Given the description of an element on the screen output the (x, y) to click on. 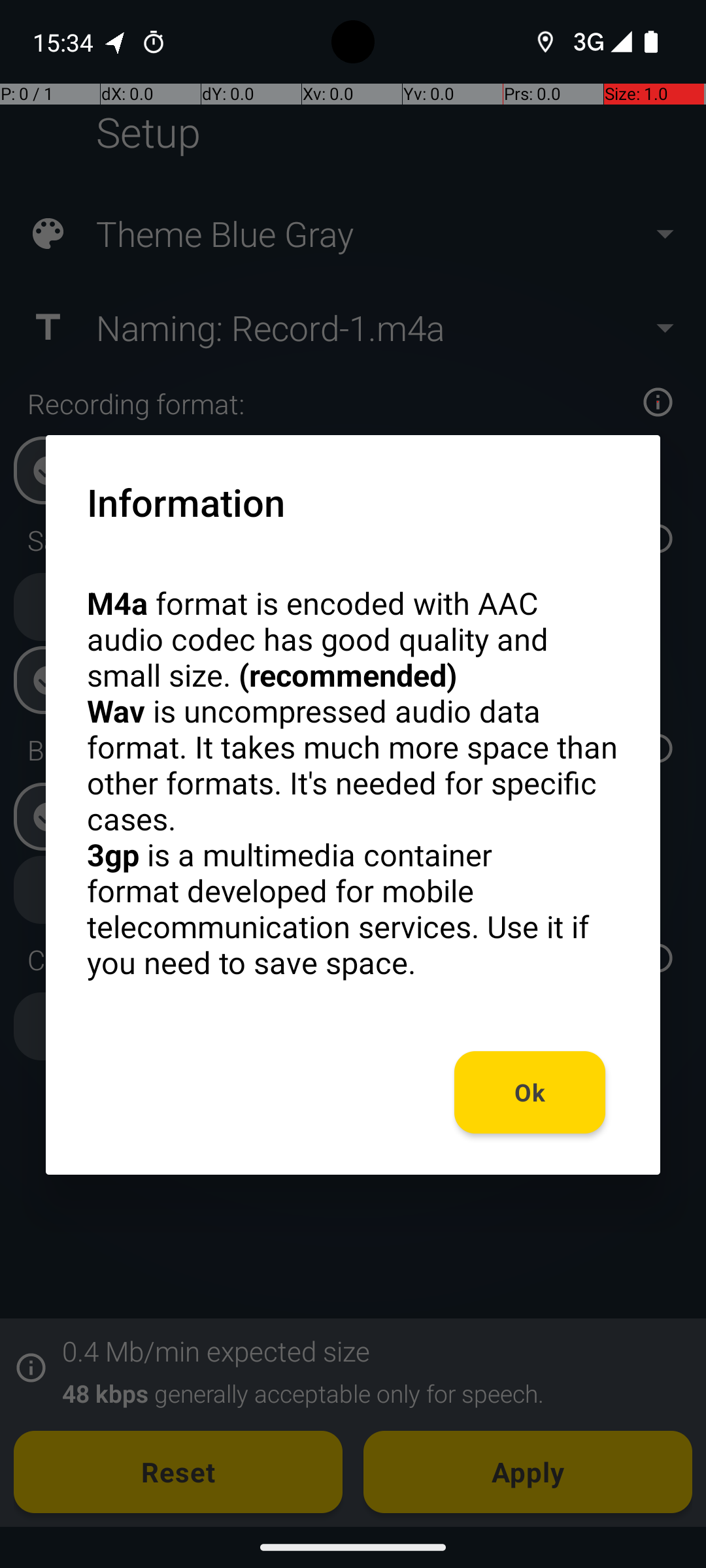
Information Element type: android.widget.TextView (185, 501)
M4a format is encoded with AAC audio codec has good quality and small size. (recommended) 
Wav is uncompressed audio data format. It takes much more space than other formats. It's needed for specific cases. 
3gp is a multimedia container format developed for mobile telecommunication services. Use it if you need to save space.  Element type: android.widget.TextView (352, 782)
Ok Element type: android.widget.Button (529, 1092)
3G Element type: android.widget.ImageView (587, 41)
